Given the description of an element on the screen output the (x, y) to click on. 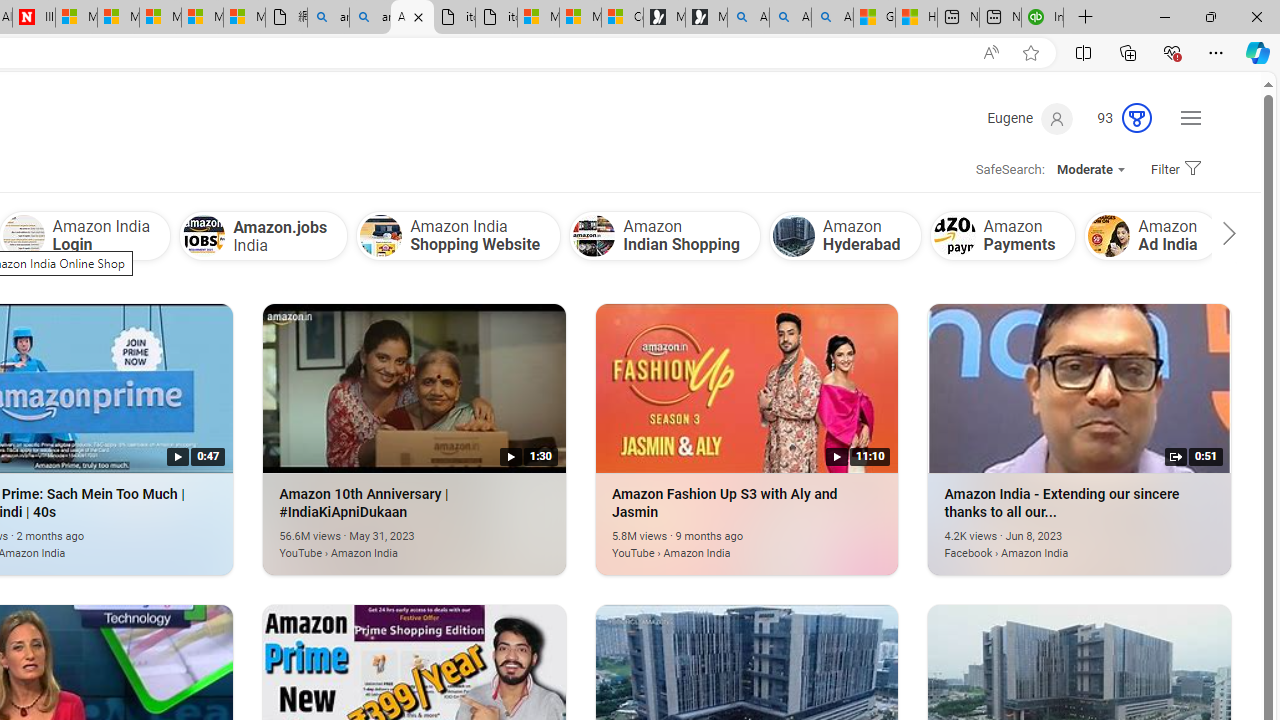
Alabama high school quarterback dies - Search Videos (831, 17)
itconcepthk.com/projector_solutions.mp4 (496, 17)
Illness news & latest pictures from Newsweek.com (33, 17)
Amazon 10th Anniversary | #IndiaKiApniDukaan (384, 542)
amazon - Search Videos (369, 17)
Eugene (1029, 119)
Amazon Ad India (1151, 235)
Amazon Hyderabad (793, 236)
Amazon Ad India (1109, 236)
Amazon.jobs India (204, 236)
